Given the description of an element on the screen output the (x, y) to click on. 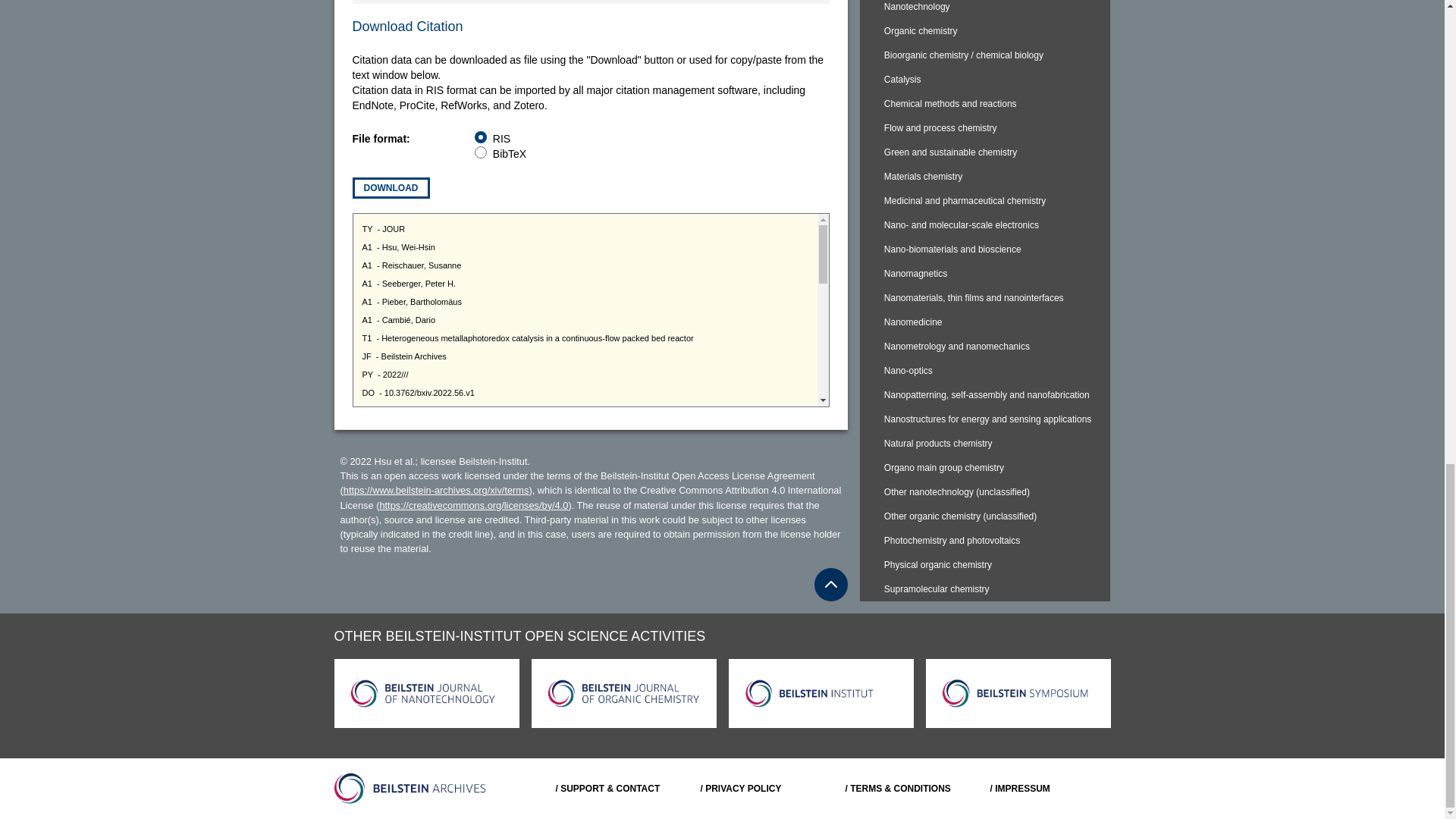
bib (480, 152)
ris (480, 137)
